Given the description of an element on the screen output the (x, y) to click on. 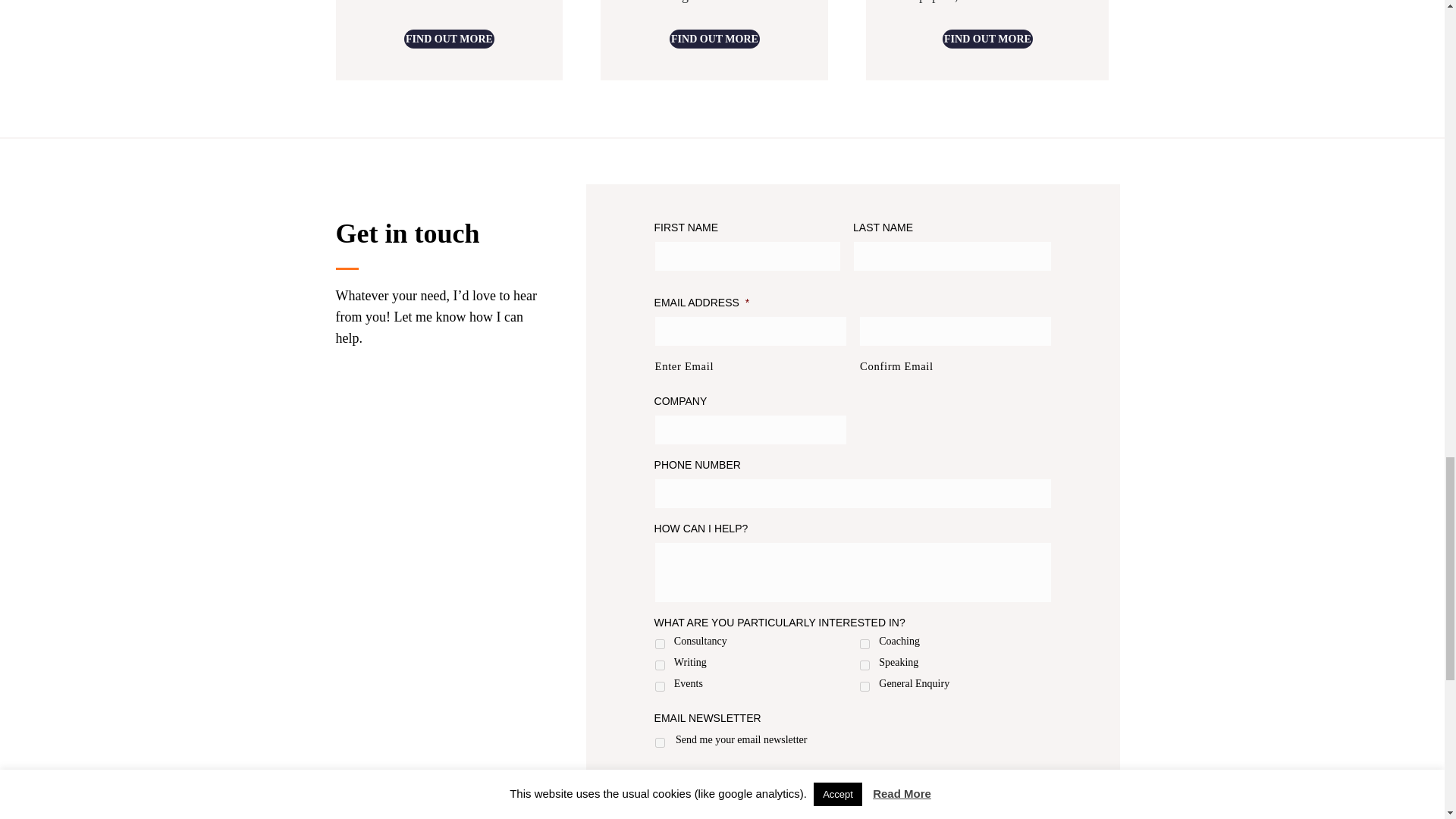
FIND OUT MORE (714, 38)
FIND OUT MORE (987, 38)
Events (660, 686)
General Enquiry (864, 686)
FIND OUT MORE (449, 38)
Speaking (864, 665)
Coaching (864, 644)
Writing (660, 665)
Send me your email newsletter (660, 742)
Consultancy (660, 644)
